Given the description of an element on the screen output the (x, y) to click on. 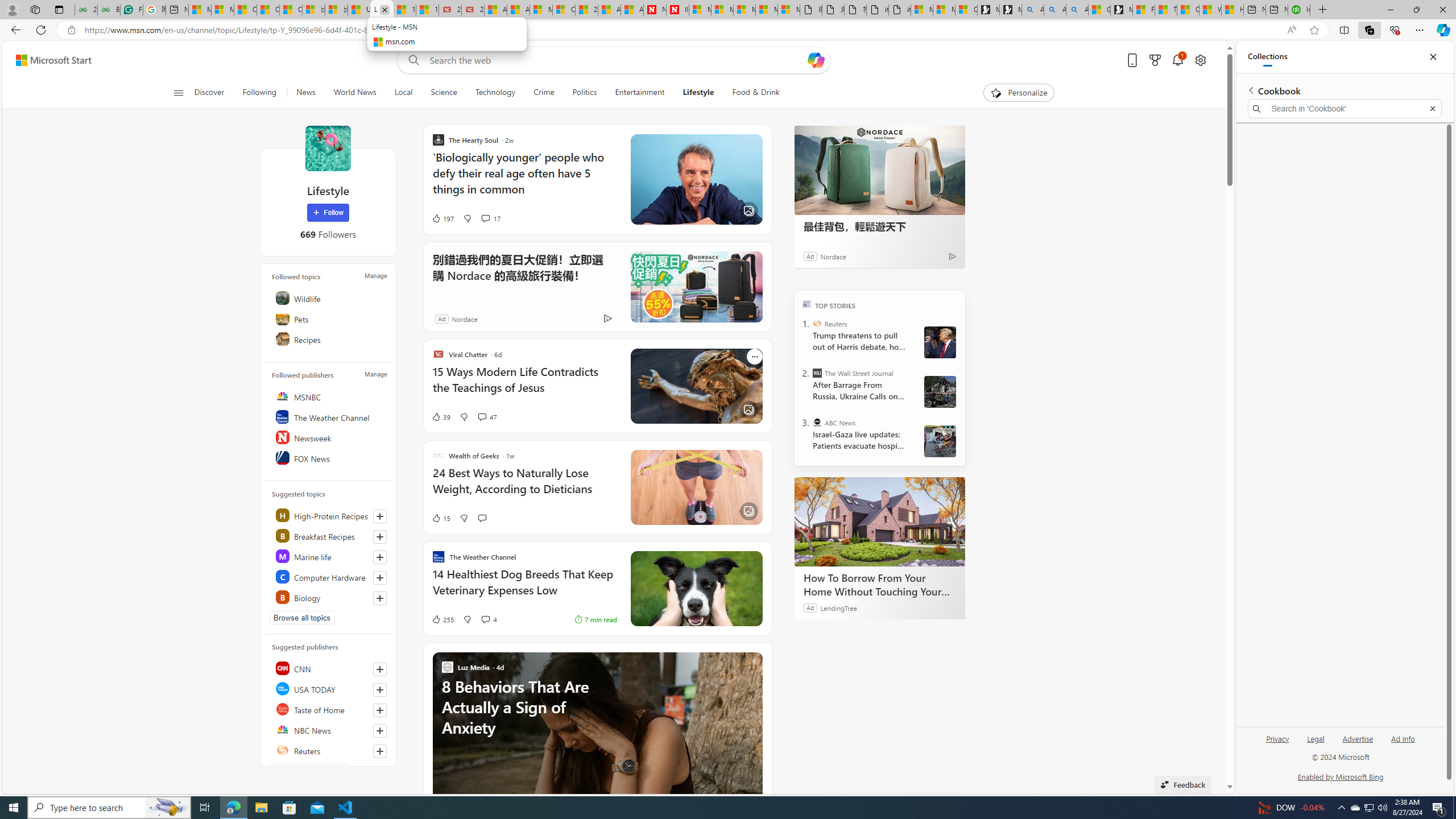
Legal (1315, 738)
Notifications (1177, 60)
Dislike (466, 619)
Discover (208, 92)
21 Movies That Outdid the Books They Were Based On (473, 9)
Politics (584, 92)
Intuit QuickBooks Online - Quickbooks (1298, 9)
Advertise (1358, 742)
View comments 4 Comment (489, 619)
Workspaces (34, 9)
How to Use a TV as a Computer Monitor (1232, 9)
Collections (1369, 29)
